Given the description of an element on the screen output the (x, y) to click on. 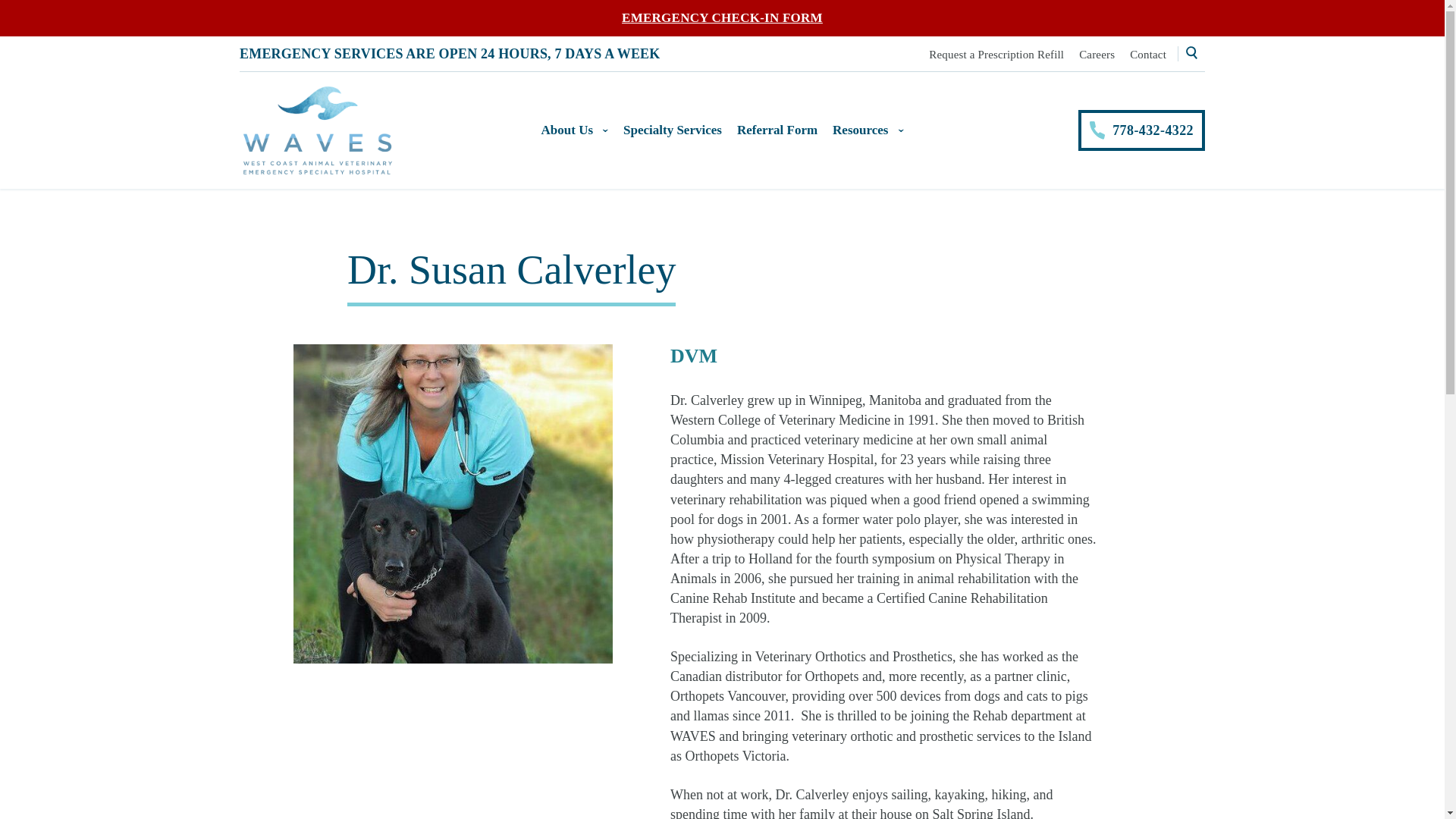
Careers (1096, 54)
Request a Prescription Refill (996, 54)
778-432-4322 (1141, 129)
EMERGENCY CHECK-IN FORM (721, 17)
Resources (867, 130)
Specialty Services (672, 130)
About Us (574, 130)
Referral Form (776, 130)
Contact (1147, 54)
